Given the description of an element on the screen output the (x, y) to click on. 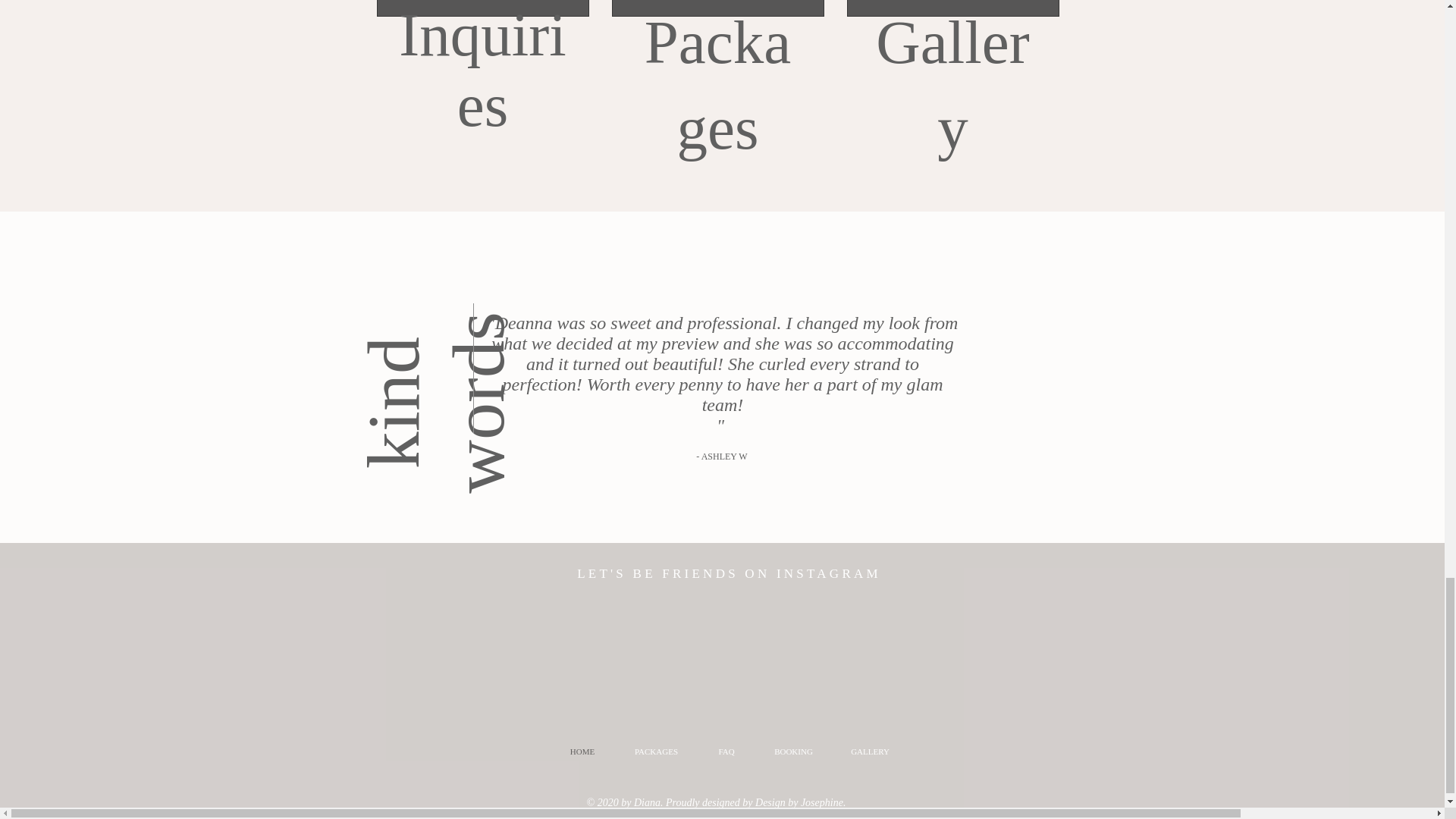
GALLERY (870, 751)
HOME (582, 751)
Gallery (952, 85)
Packages (717, 85)
PACKAGES (655, 751)
FAQ (725, 751)
Inquiries (482, 69)
BOOKING (793, 751)
